Given the description of an element on the screen output the (x, y) to click on. 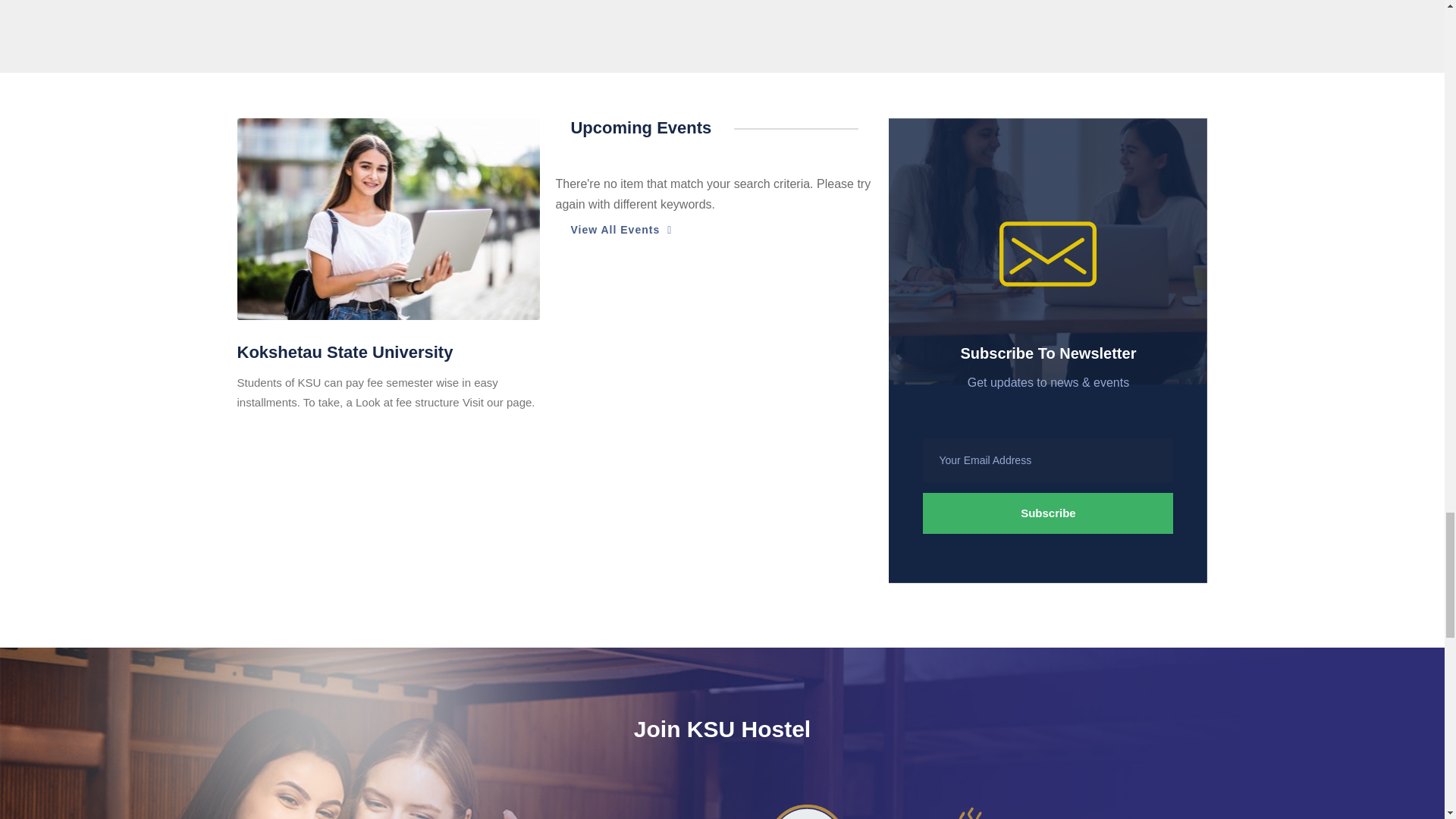
new changes file-18 (972, 803)
new changes file-17 (804, 805)
new changes file-19 (1138, 807)
Subscribe (1048, 513)
